Given the description of an element on the screen output the (x, y) to click on. 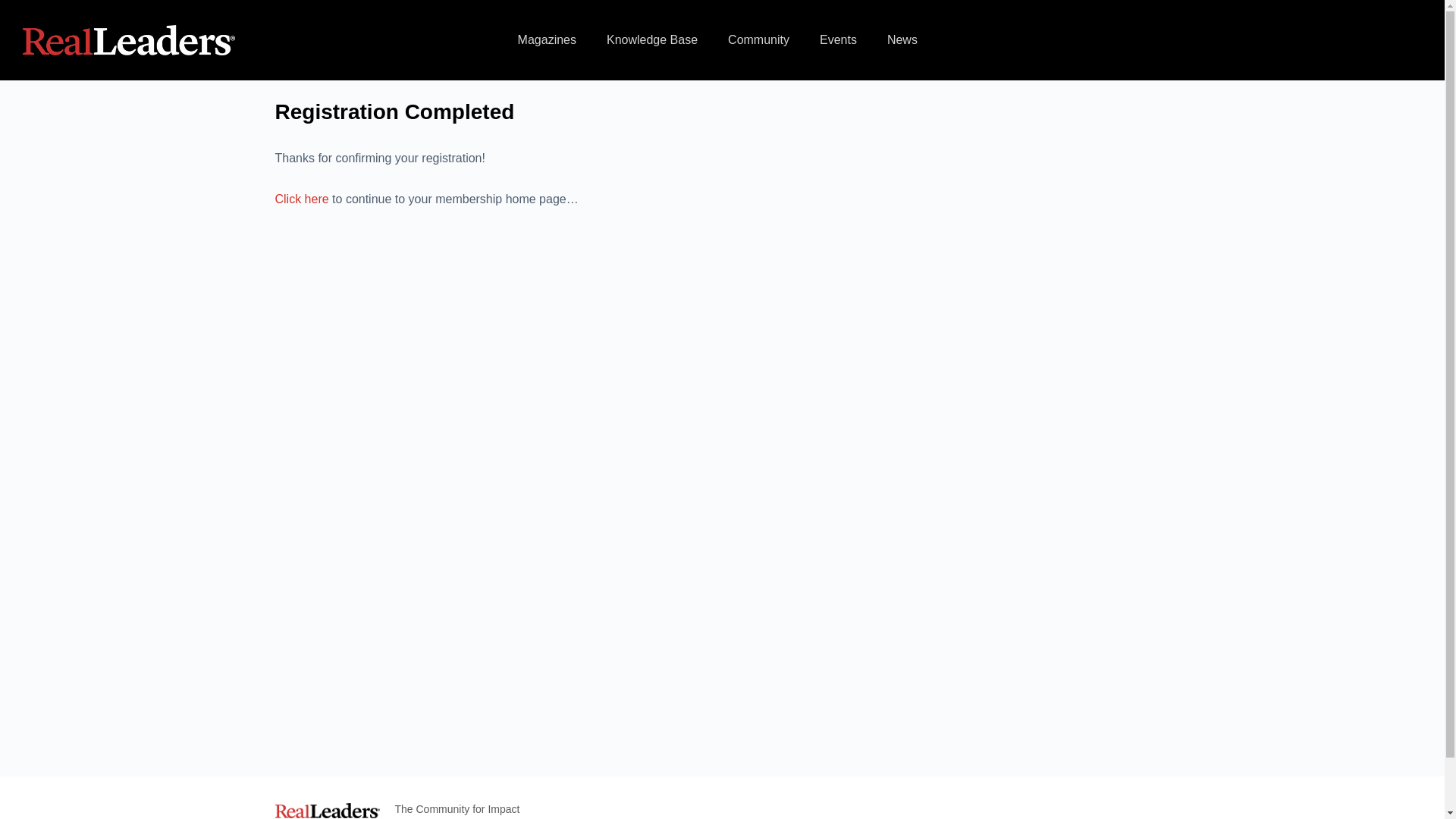
Knowledge Base (652, 39)
News (902, 39)
Click here (302, 198)
Events (838, 39)
Magazines (546, 39)
Community (759, 39)
